Given the description of an element on the screen output the (x, y) to click on. 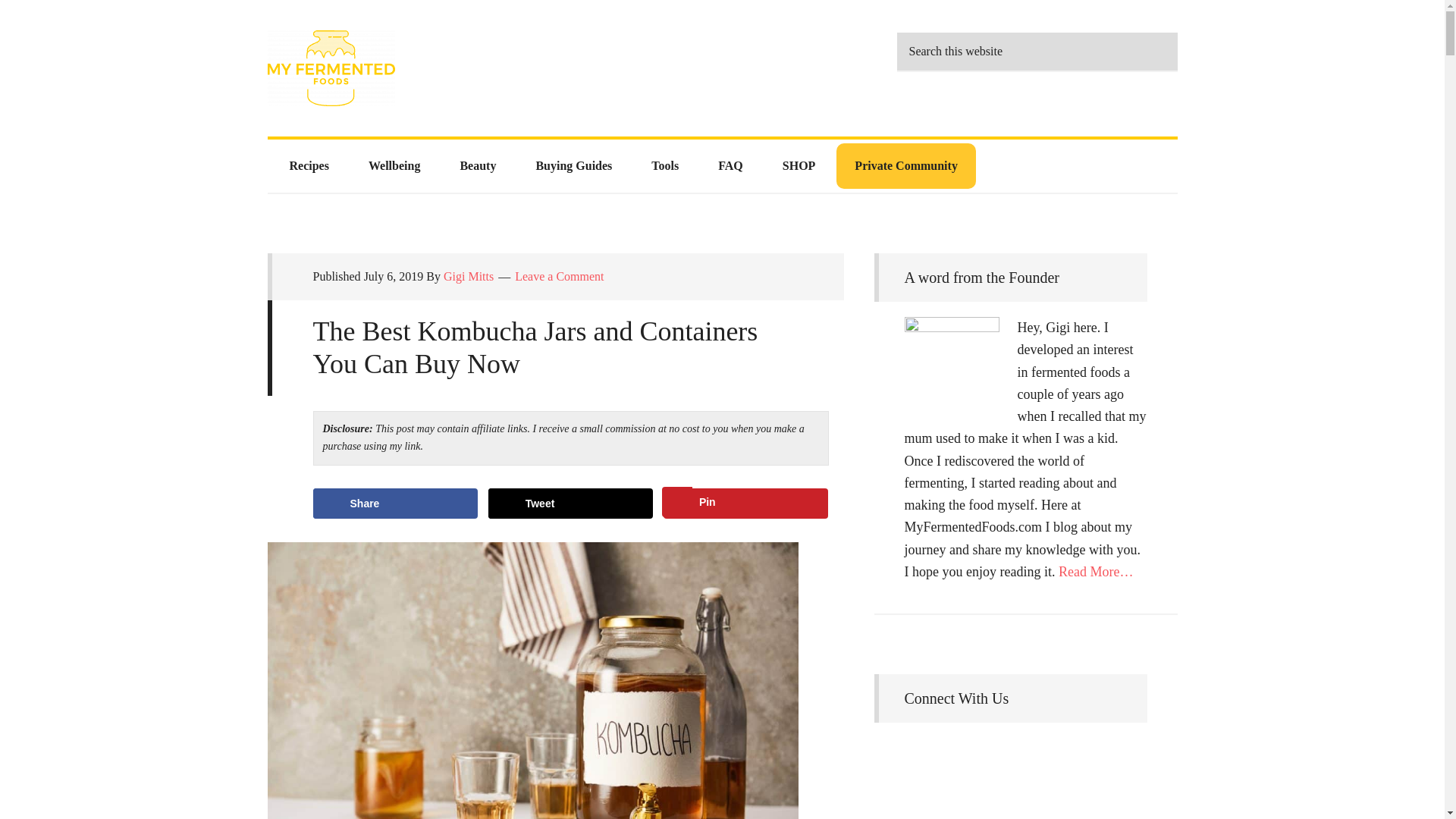
FAQ (730, 166)
Save to Pinterest (745, 503)
Leave a Comment (559, 276)
SHOP (799, 166)
My Fermented Foods (403, 68)
Beauty (477, 166)
Buying Guides (573, 166)
Share on Facebook (395, 503)
Share on X (570, 503)
Wellbeing (394, 166)
Pin (745, 503)
Recipes (308, 166)
